Given the description of an element on the screen output the (x, y) to click on. 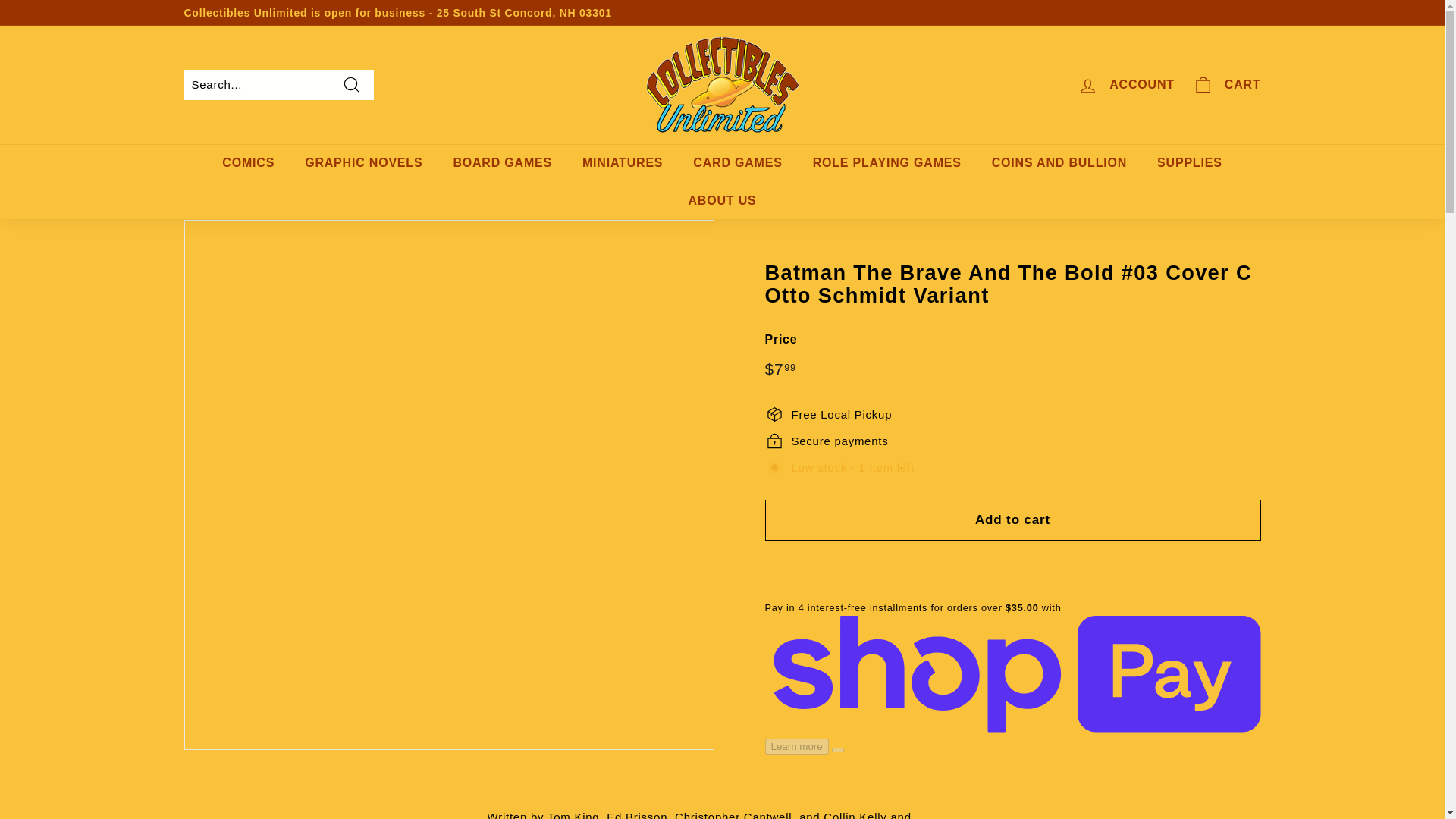
BOARD GAMES (502, 162)
GRAPHIC NOVELS (363, 162)
ACCOUNT (1125, 84)
MINIATURES (622, 162)
COMICS (247, 162)
